Given the description of an element on the screen output the (x, y) to click on. 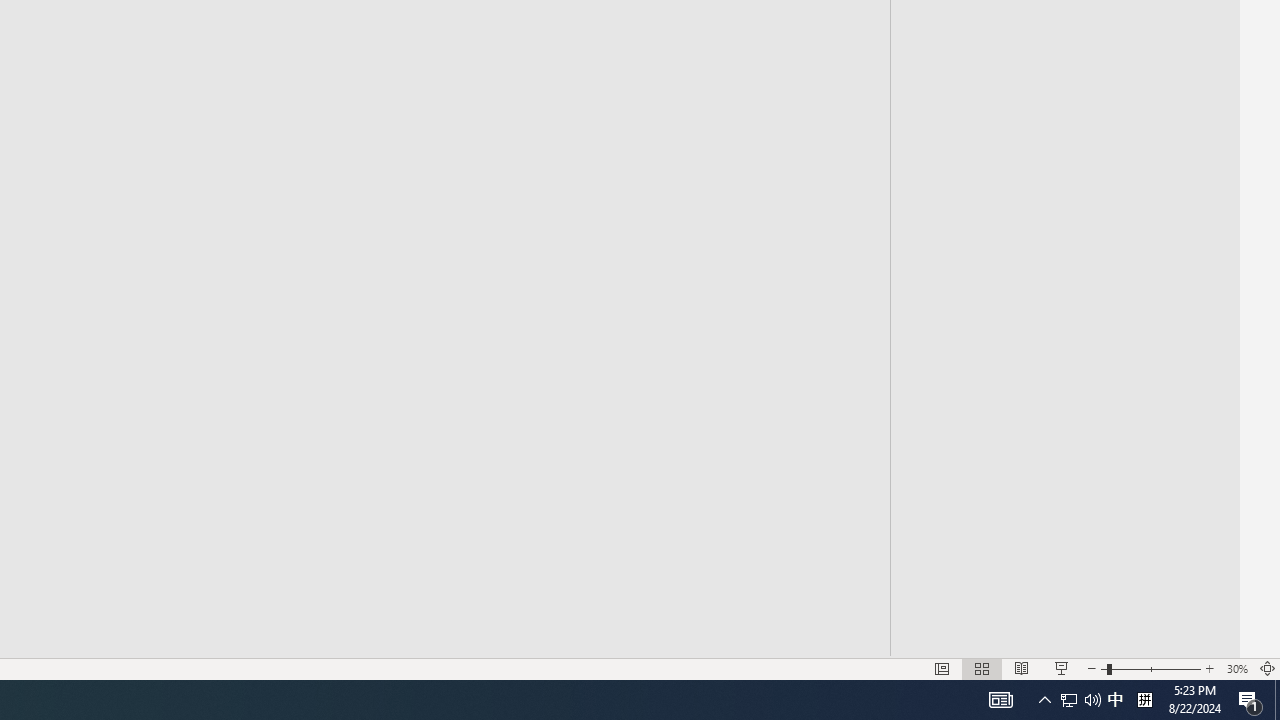
copilot-notconnected, Copilot error (click for details) (481, 628)
Close Panel (535, 218)
Launch Profile... (401, 218)
Notifications (537, 628)
Terminal 3 bash (470, 334)
Class: xterm-decoration-overview-ruler (352, 437)
Maximize Panel Size (488, 218)
Terminal 2 bash (470, 299)
Views and More Actions... (442, 218)
Terminal 1 bash (470, 263)
Class: actions-container (516, 218)
